Given the description of an element on the screen output the (x, y) to click on. 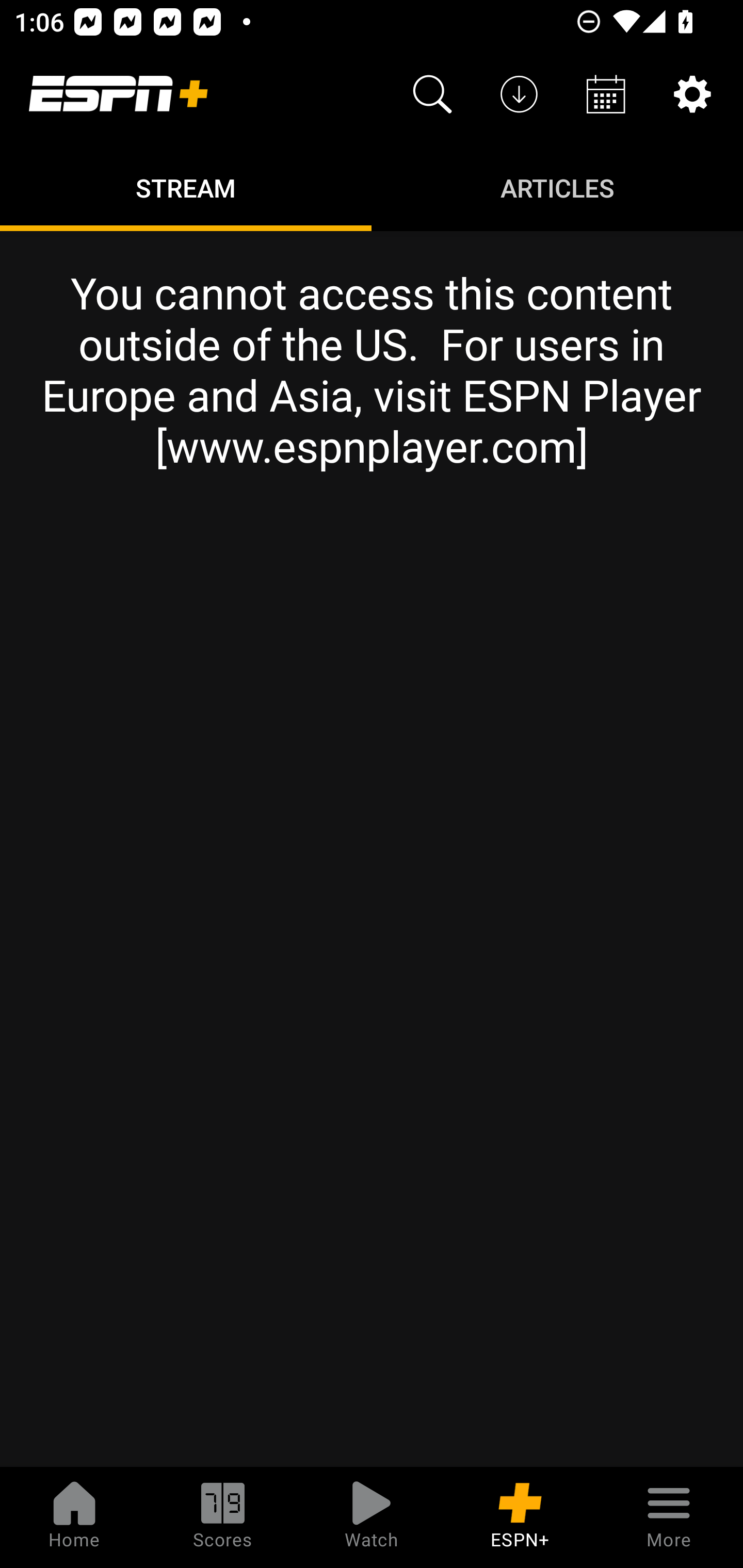
Search (432, 93)
Downloads (518, 93)
Schedule (605, 93)
Settings (692, 93)
Articles ARTICLES (557, 187)
Home (74, 1517)
Scores (222, 1517)
Watch (371, 1517)
More (668, 1517)
